Given the description of an element on the screen output the (x, y) to click on. 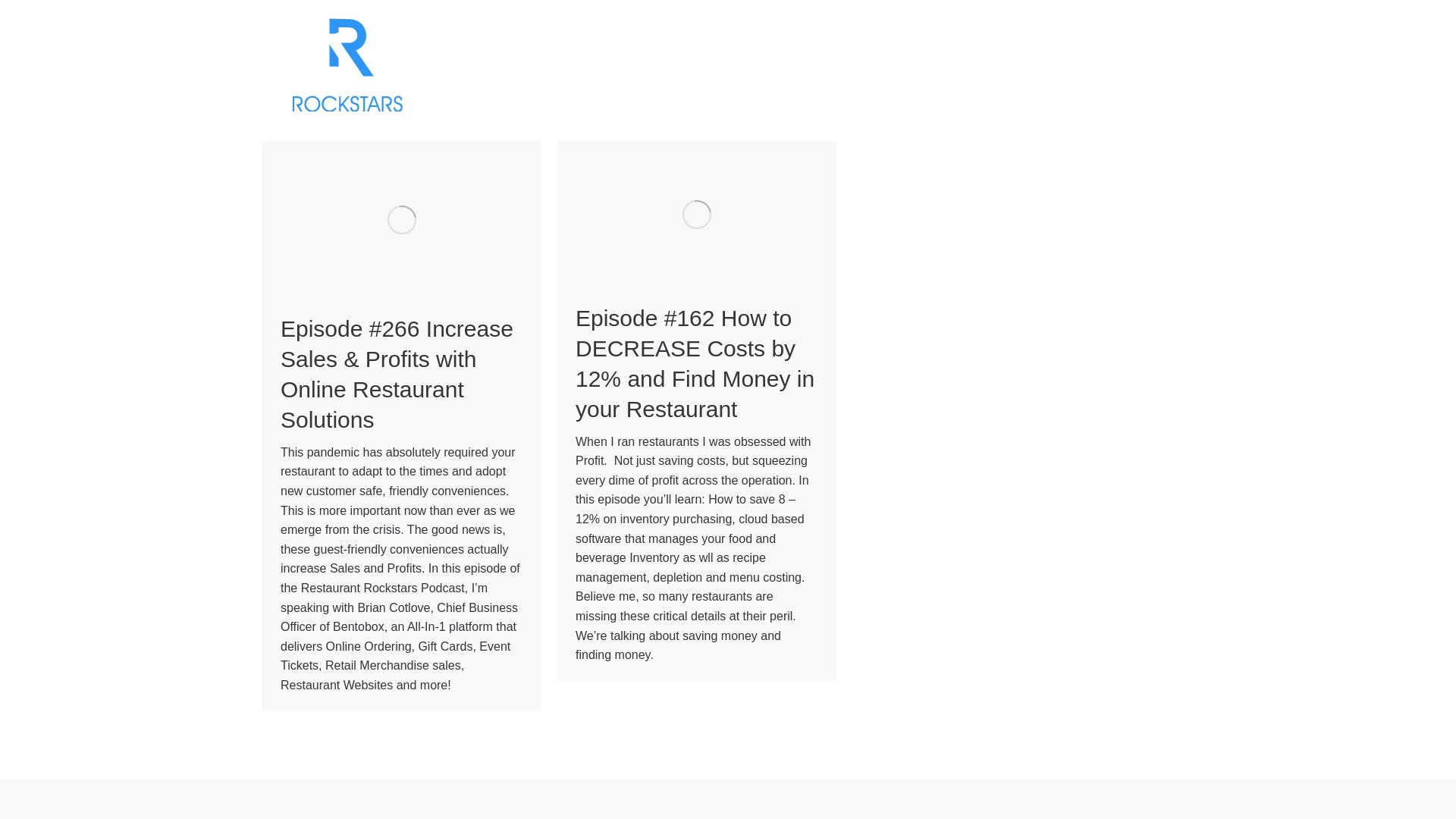
LATEST PODCAST EPISODES (802, 56)
OLDER PODCAST EPISODES (1012, 56)
MAIN WEBSITE (637, 56)
BLOG (1144, 56)
